Given the description of an element on the screen output the (x, y) to click on. 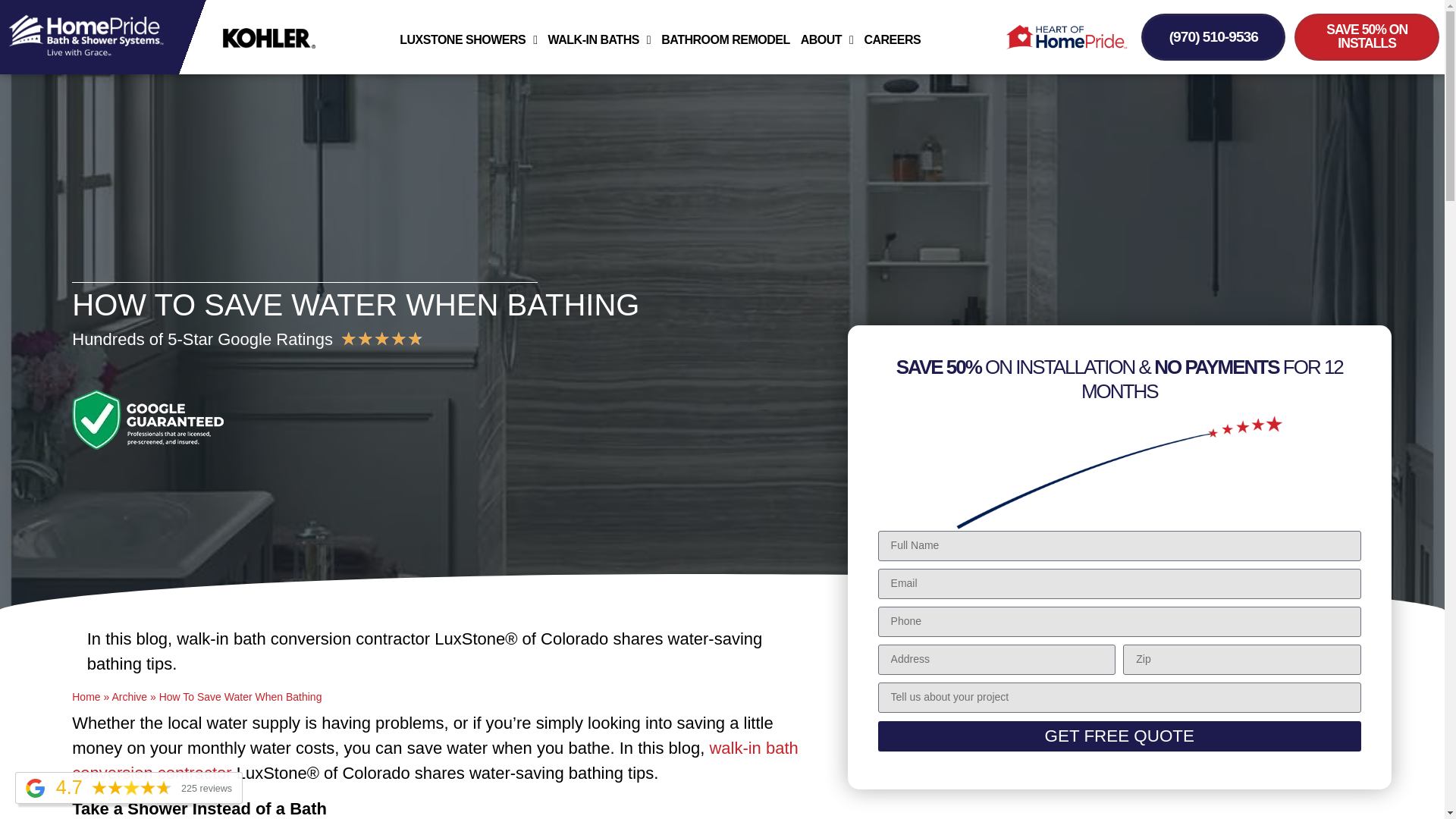
Powered by Google (35, 787)
